Given the description of an element on the screen output the (x, y) to click on. 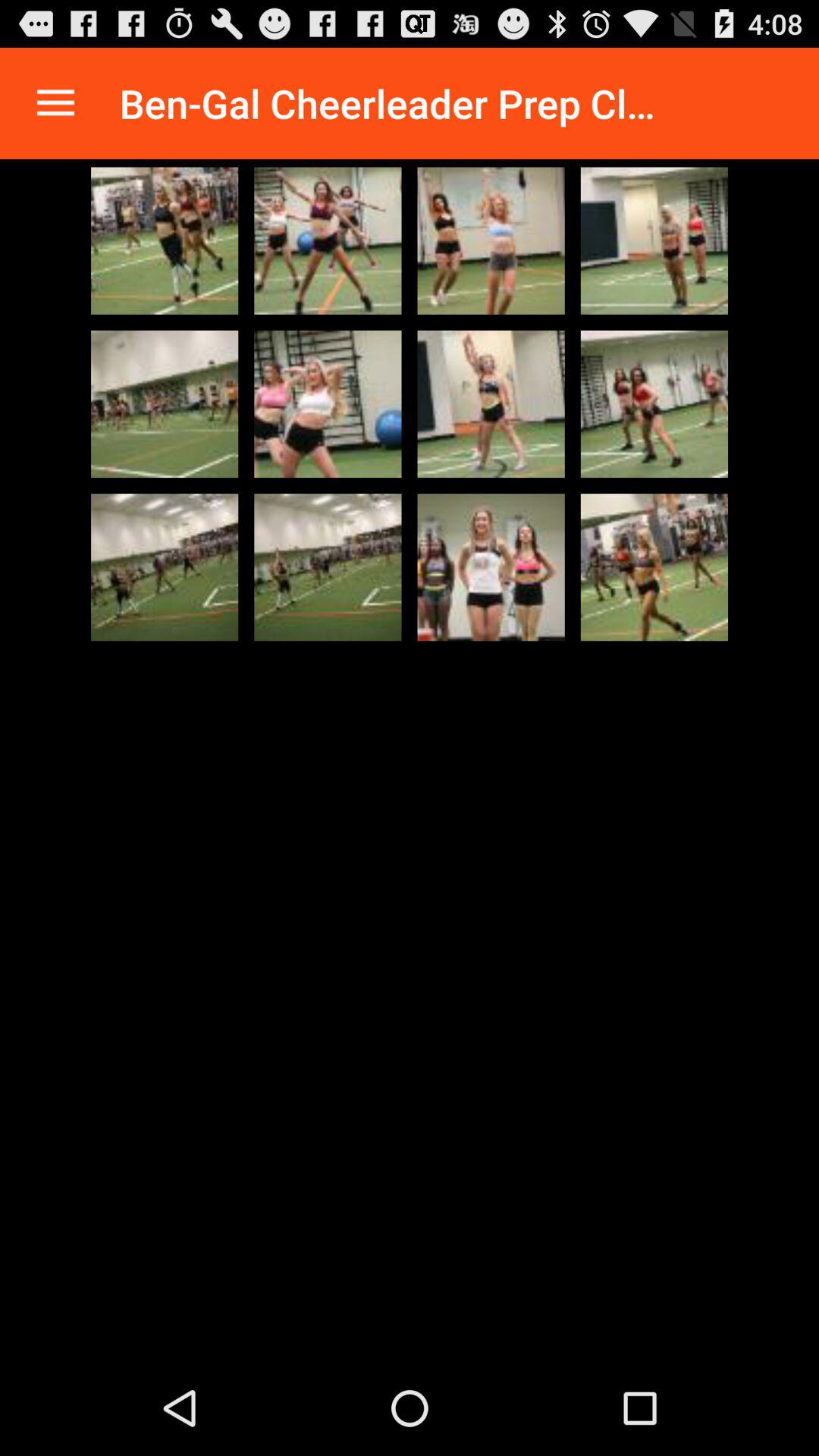
view photo (164, 403)
